Given the description of an element on the screen output the (x, y) to click on. 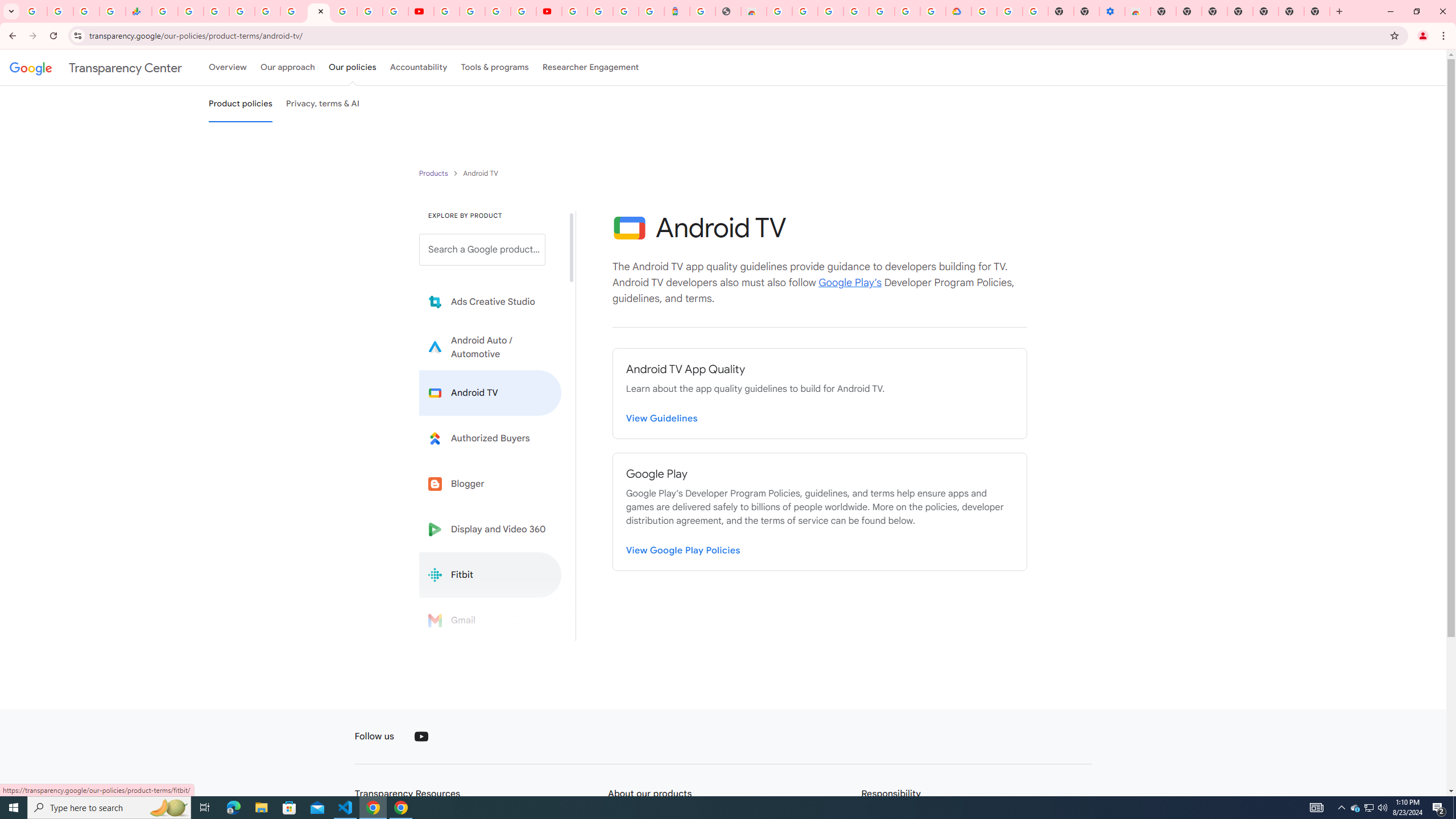
New Tab (1162, 11)
Product policies (434, 173)
Learn more about Android TV (490, 393)
Gmail (490, 619)
Transparency Center (95, 67)
